Given the description of an element on the screen output the (x, y) to click on. 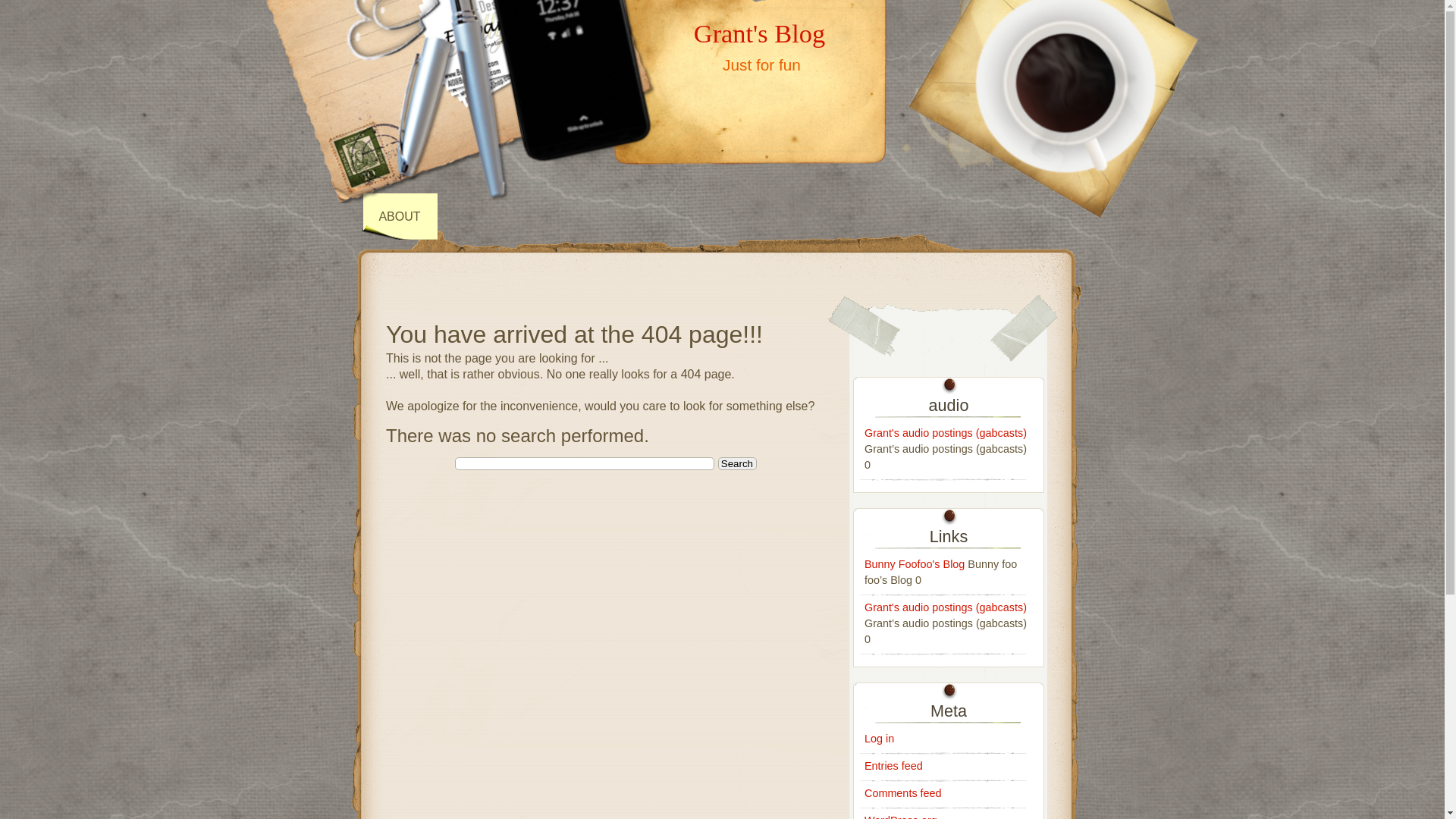
Log in Element type: text (879, 738)
Bunny Foofoo's Blog Element type: text (914, 564)
Entries feed Element type: text (893, 765)
Grant's Blog Element type: text (759, 32)
Search Element type: text (737, 463)
ABOUT Element type: text (399, 216)
Grant's audio postings (gabcasts) Element type: text (945, 432)
Grant's audio postings (gabcasts) Element type: text (945, 607)
Comments feed Element type: text (902, 793)
